Given the description of an element on the screen output the (x, y) to click on. 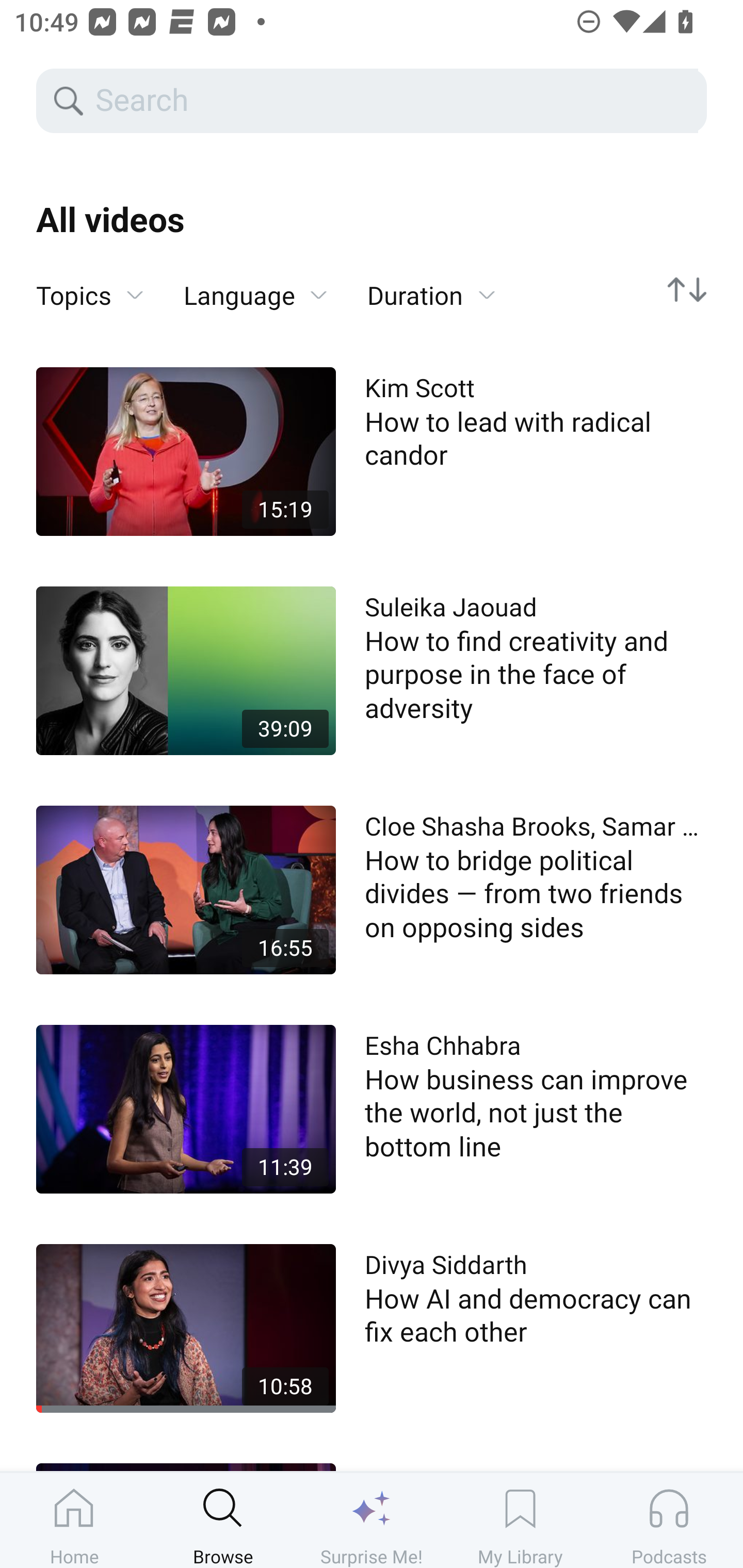
Search (395, 100)
Topics (90, 295)
Language (255, 295)
Duration (431, 295)
15:19 Kim Scott How to lead with radical candor (371, 451)
Home (74, 1520)
Browse (222, 1520)
Surprise Me! (371, 1520)
My Library (519, 1520)
Podcasts (668, 1520)
